Given the description of an element on the screen output the (x, y) to click on. 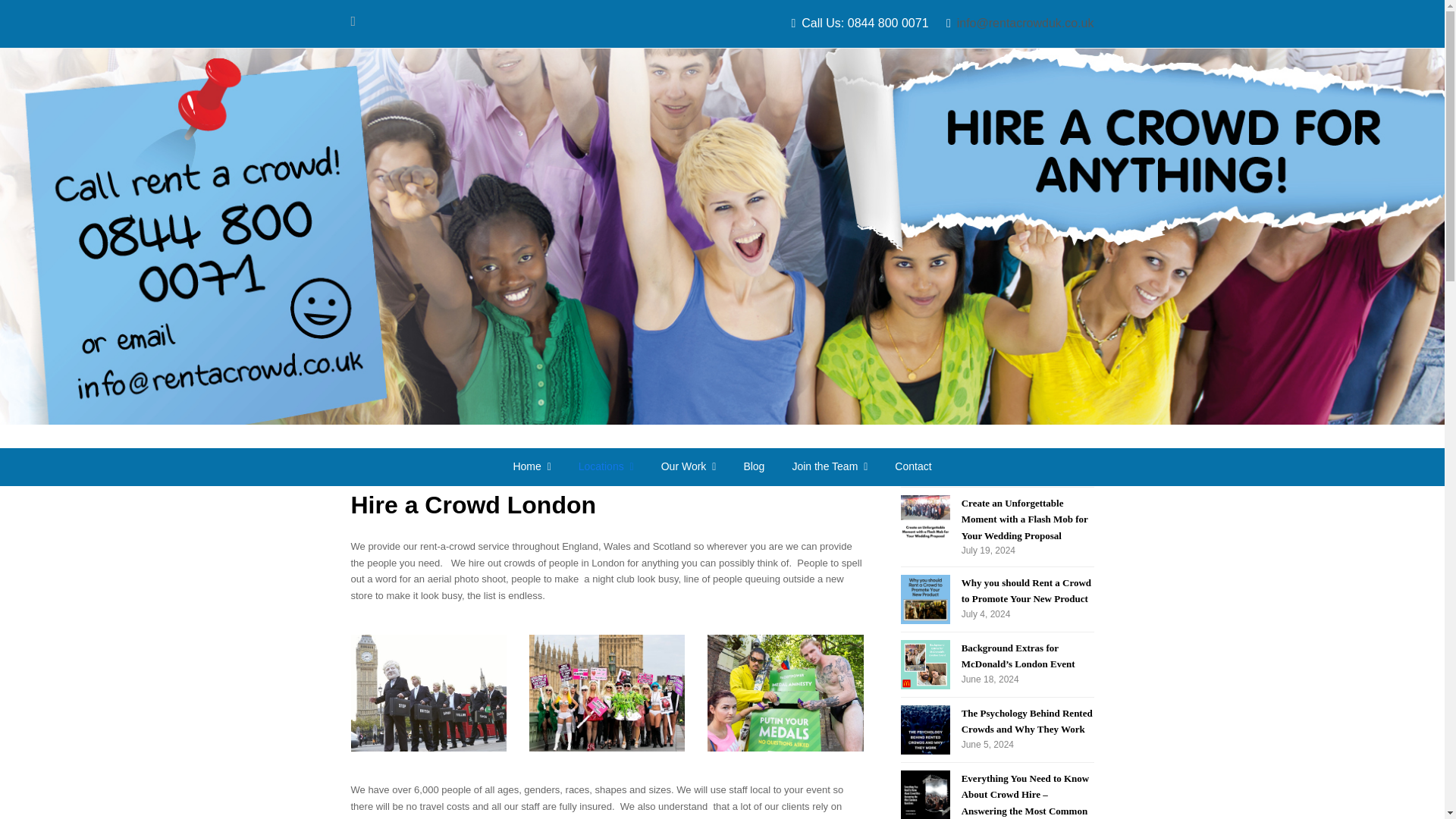
The Psychology Behind Rented Crowds and Why They Work (925, 729)
Home (531, 466)
Why you should Rent a Crowd to Promote Your New Product (925, 599)
Locations (606, 466)
Our Work (689, 466)
